Given the description of an element on the screen output the (x, y) to click on. 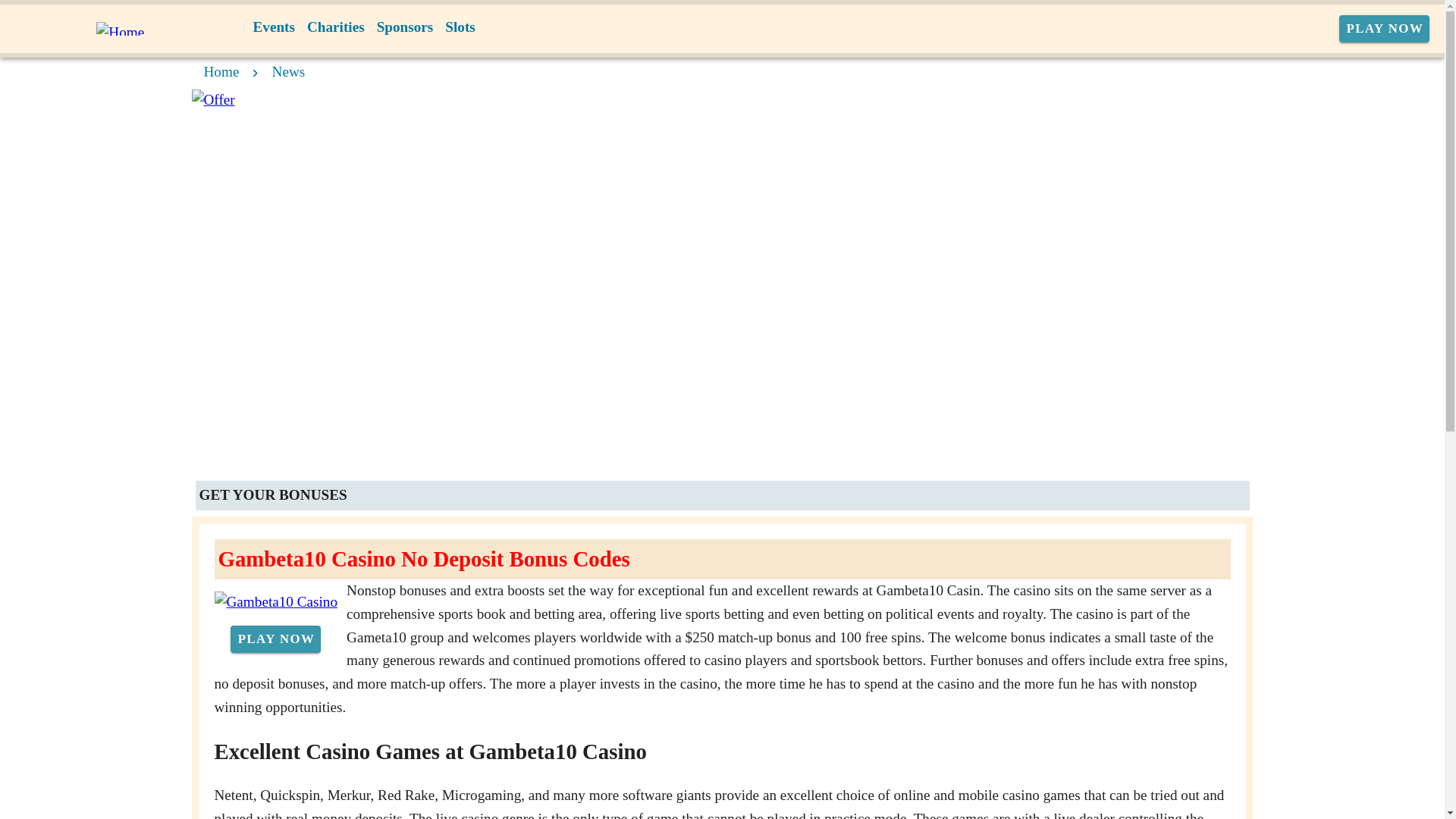
PLAY NOW (275, 638)
Charities (336, 27)
Home (220, 71)
Events (274, 27)
PLAY NOW (1384, 28)
Sponsors (405, 27)
News (288, 71)
Slots (459, 27)
